Given the description of an element on the screen output the (x, y) to click on. 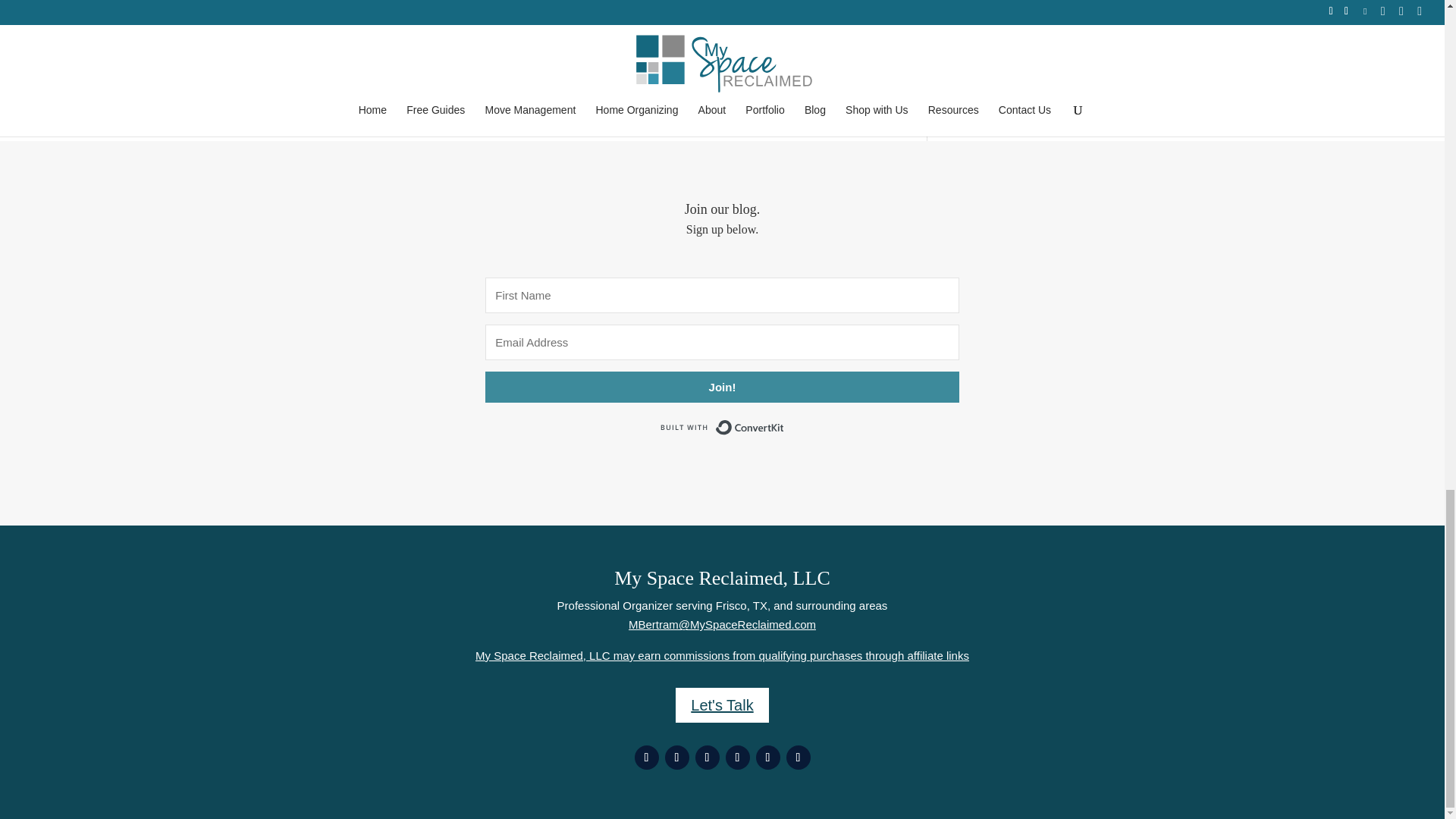
Follow on Facebook (645, 757)
Follow on X (675, 757)
Follow on Pinterest (766, 757)
Follow on Instagram (737, 757)
Follow on LinkedIn (797, 757)
Follow on google-plus (706, 757)
